Given the description of an element on the screen output the (x, y) to click on. 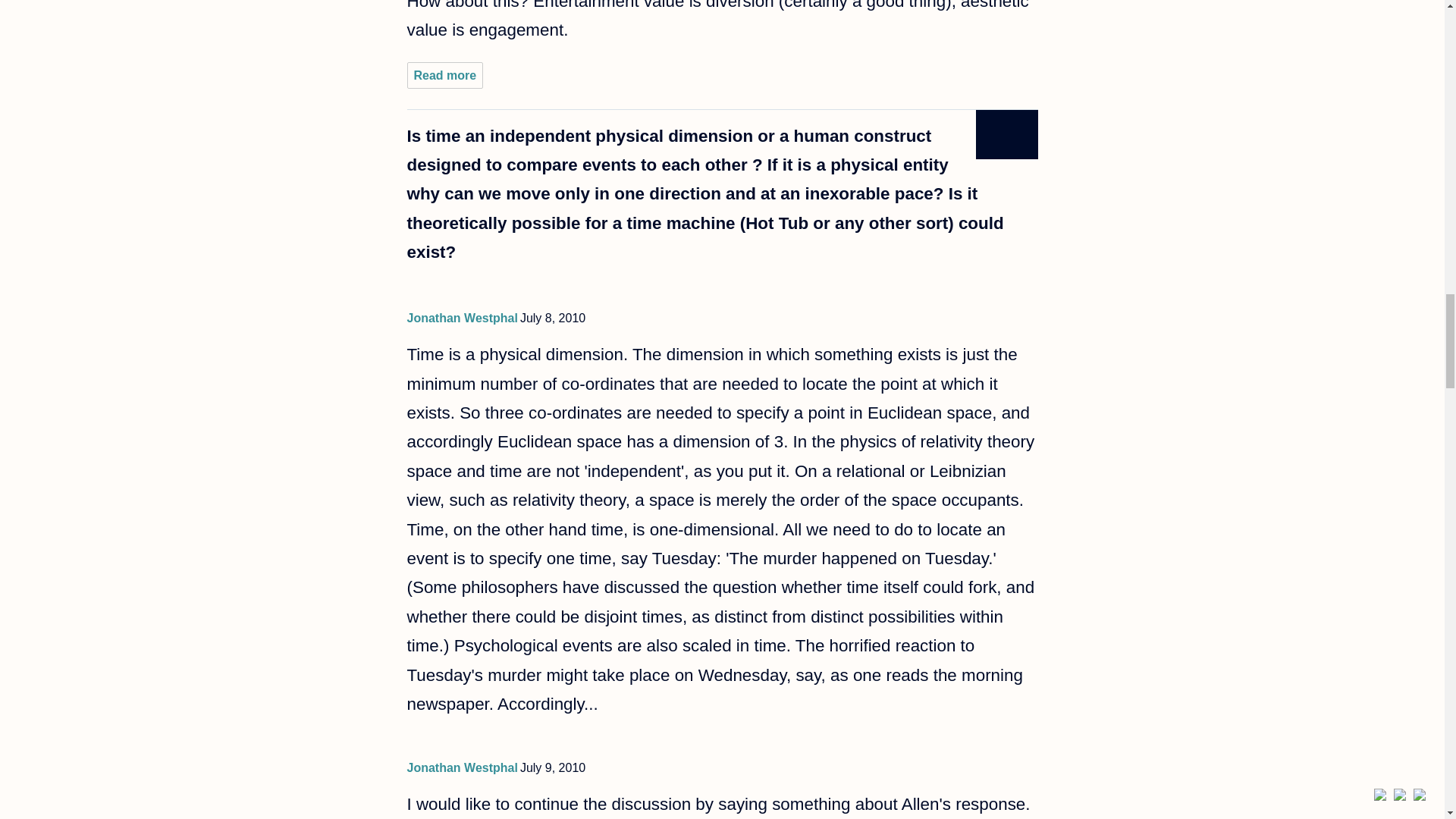
View user profile. (461, 767)
View user profile. (461, 318)
